Given the description of an element on the screen output the (x, y) to click on. 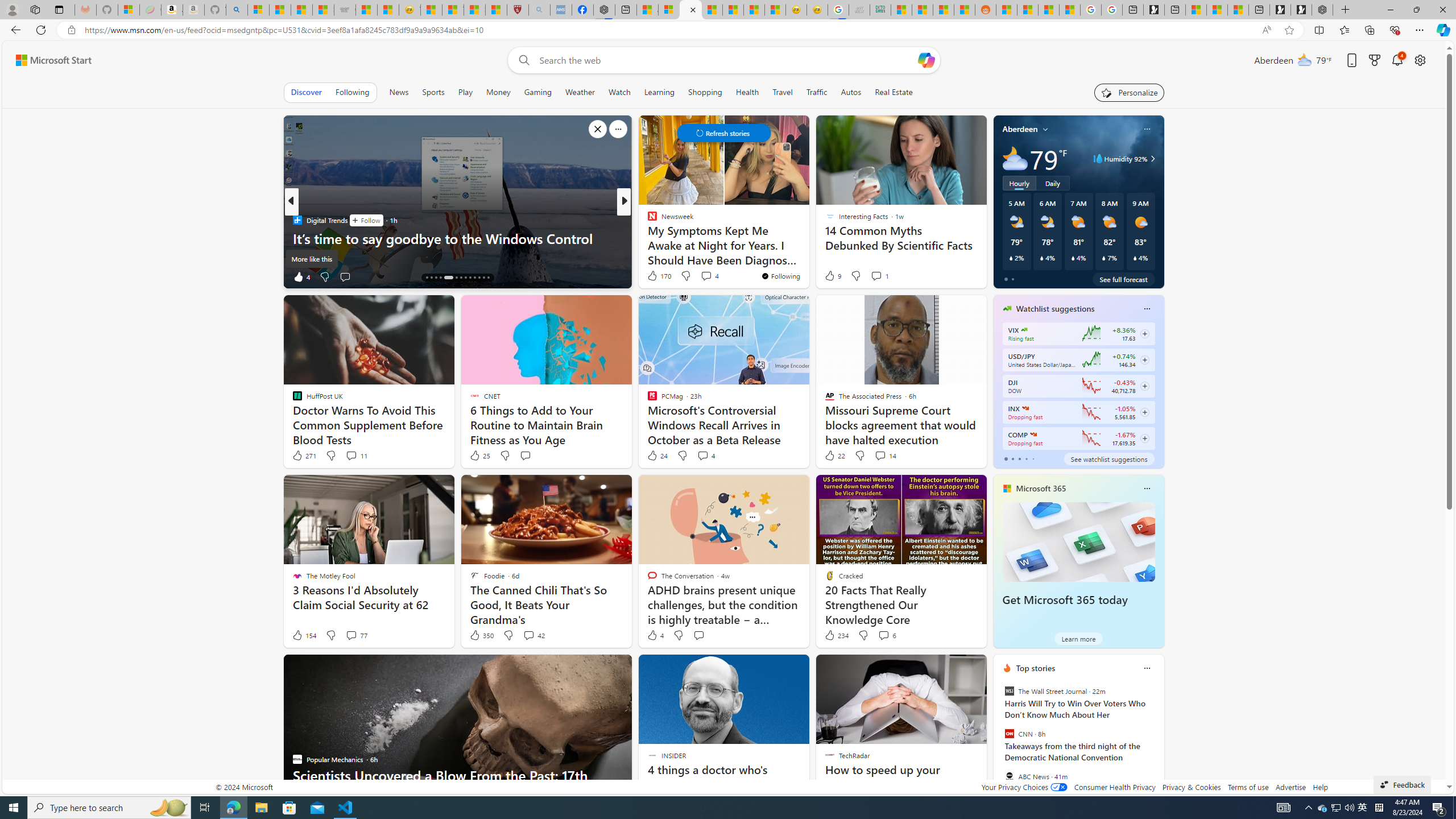
Digital Trends (296, 219)
76 Like (652, 276)
View comments 18 Comment (6, 276)
Newsweek (647, 219)
View comments 5 Comment (698, 276)
View comments 14 Comment (879, 455)
R******* | Trusted Community Engagement and Contributions (1006, 9)
